Given the description of an element on the screen output the (x, y) to click on. 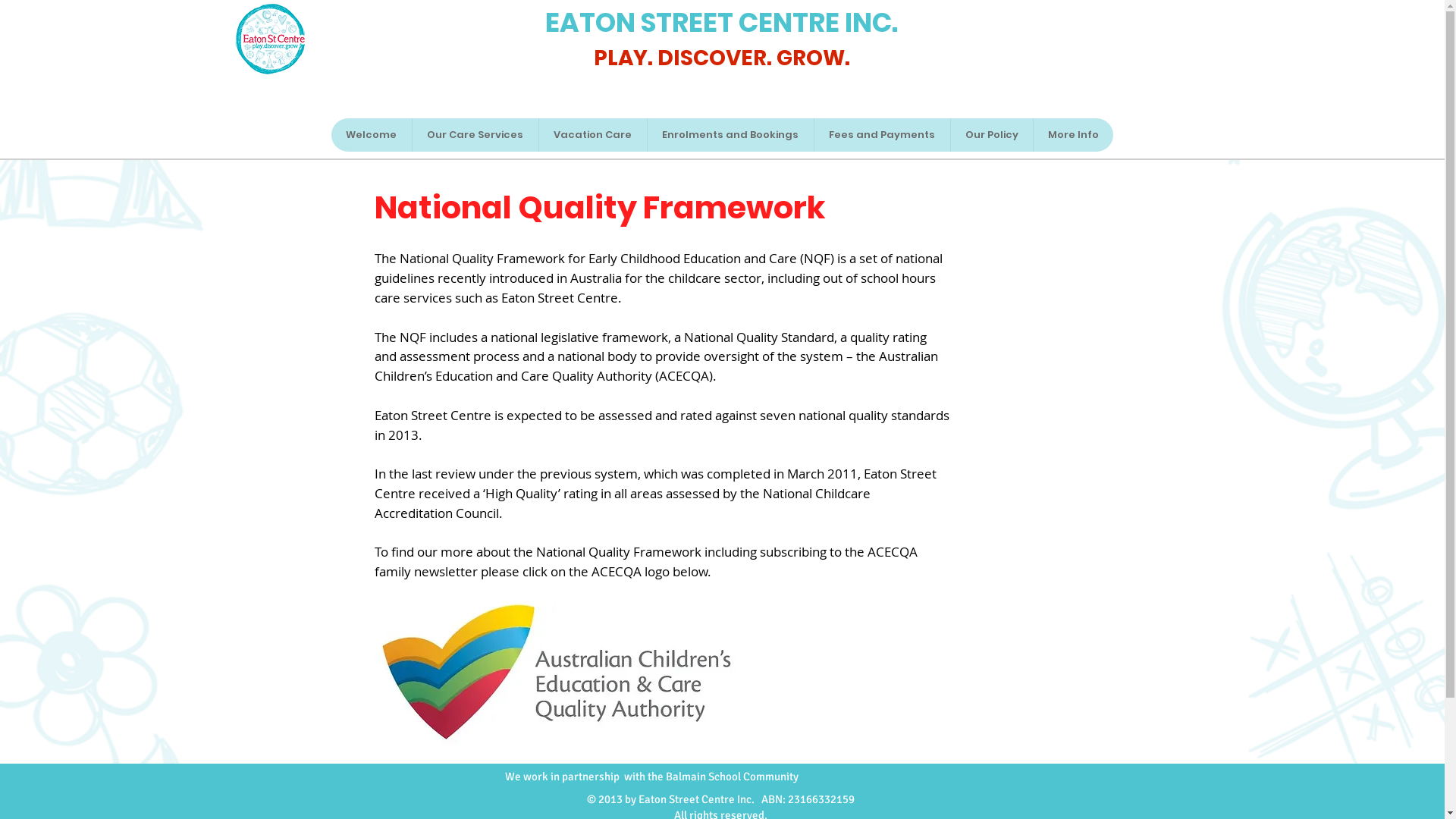
Our Policy Element type: text (990, 134)
ACECQA Element type: hover (567, 681)
Welcome Element type: text (370, 134)
Fees and Payments Element type: text (880, 134)
Vacation Care Element type: text (592, 134)
Picture1.png Element type: hover (270, 38)
Enrolments and Bookings Element type: text (729, 134)
Our Care Services Element type: text (474, 134)
